Given the description of an element on the screen output the (x, y) to click on. 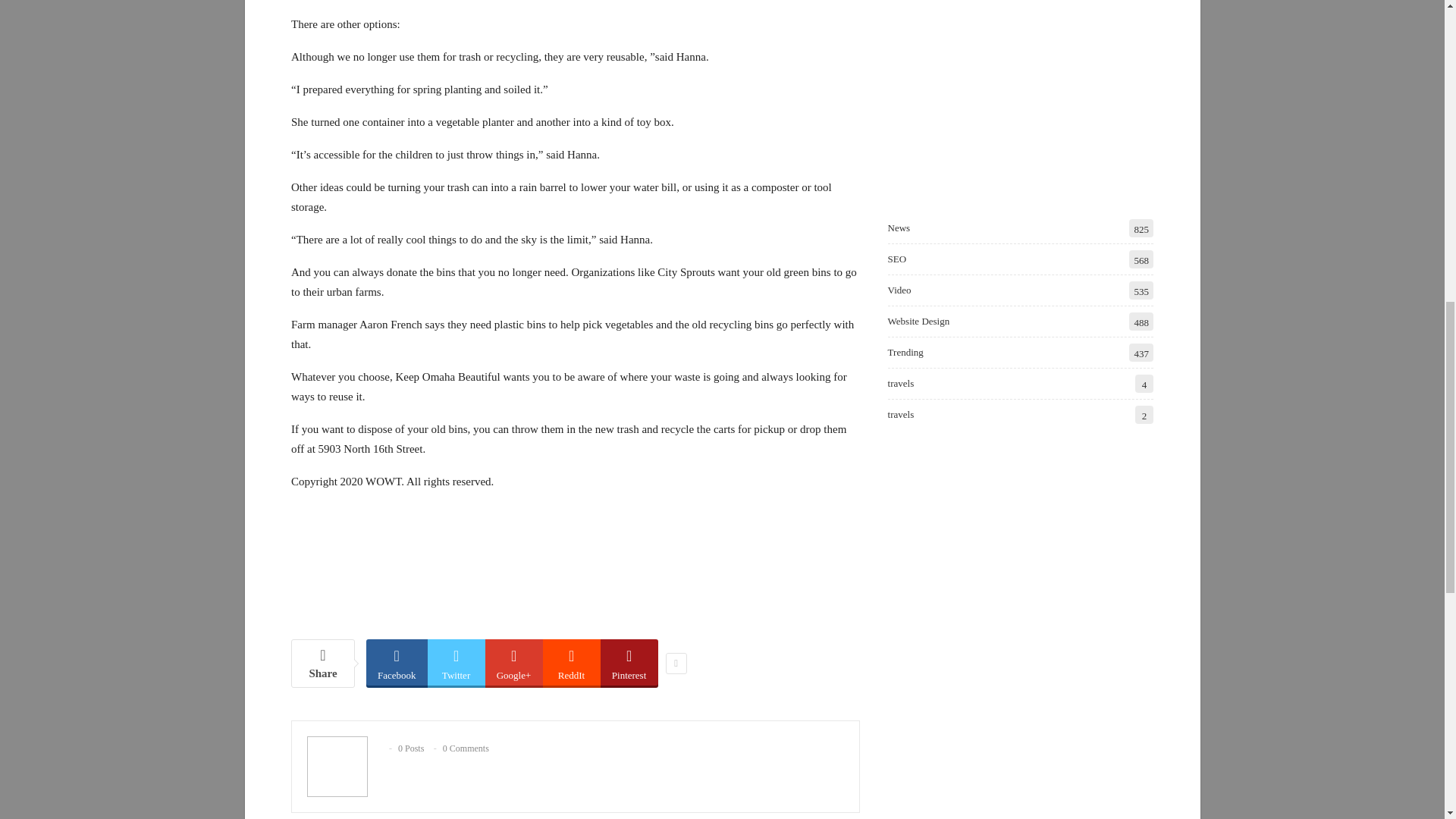
ReddIt (571, 662)
Twitter (456, 662)
Facebook (397, 662)
Pinterest (628, 662)
